Given the description of an element on the screen output the (x, y) to click on. 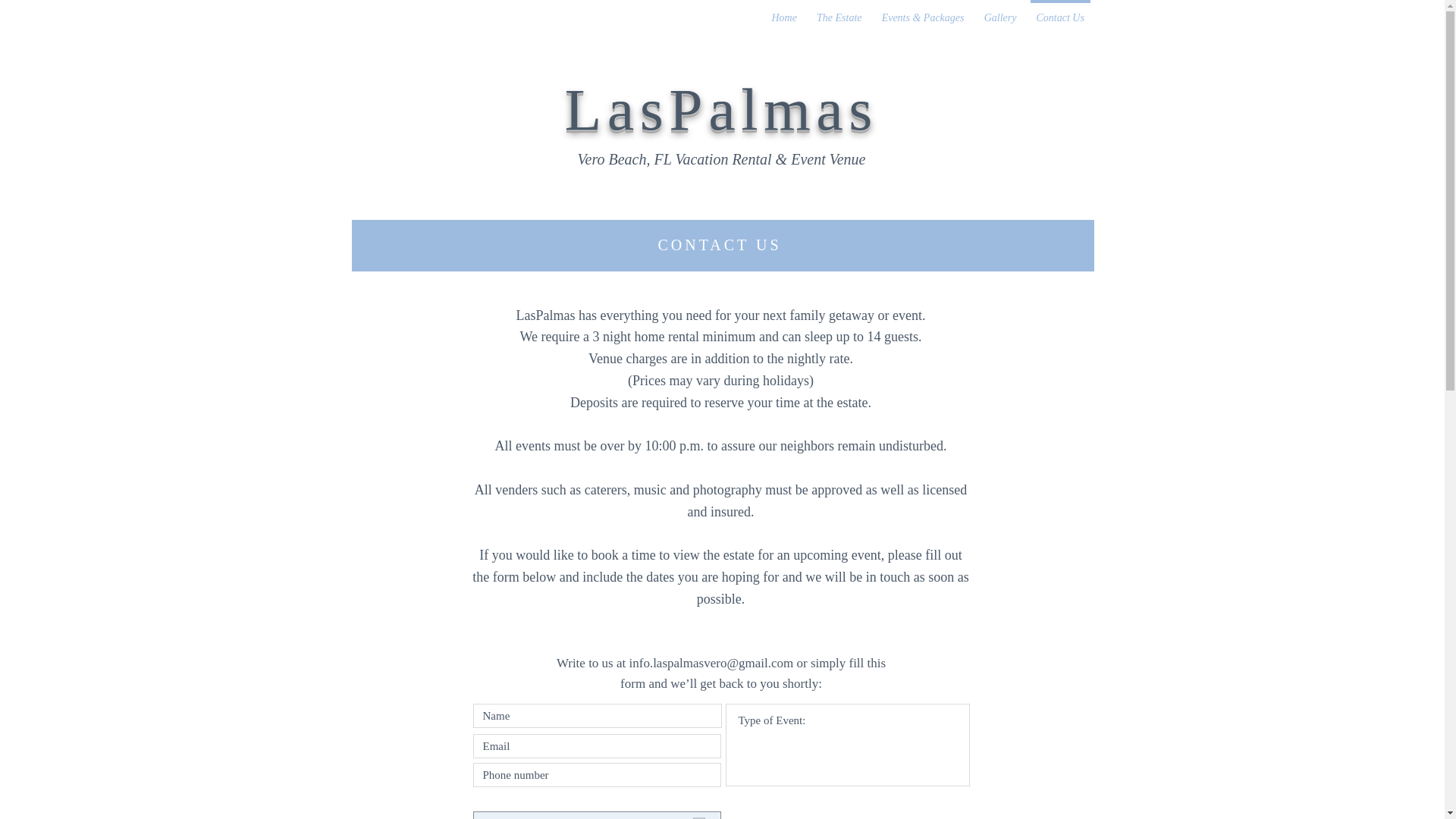
The Estate (839, 11)
LasPalmas (720, 109)
Contact Us (1060, 11)
Home (783, 11)
Gallery (1000, 11)
